Given the description of an element on the screen output the (x, y) to click on. 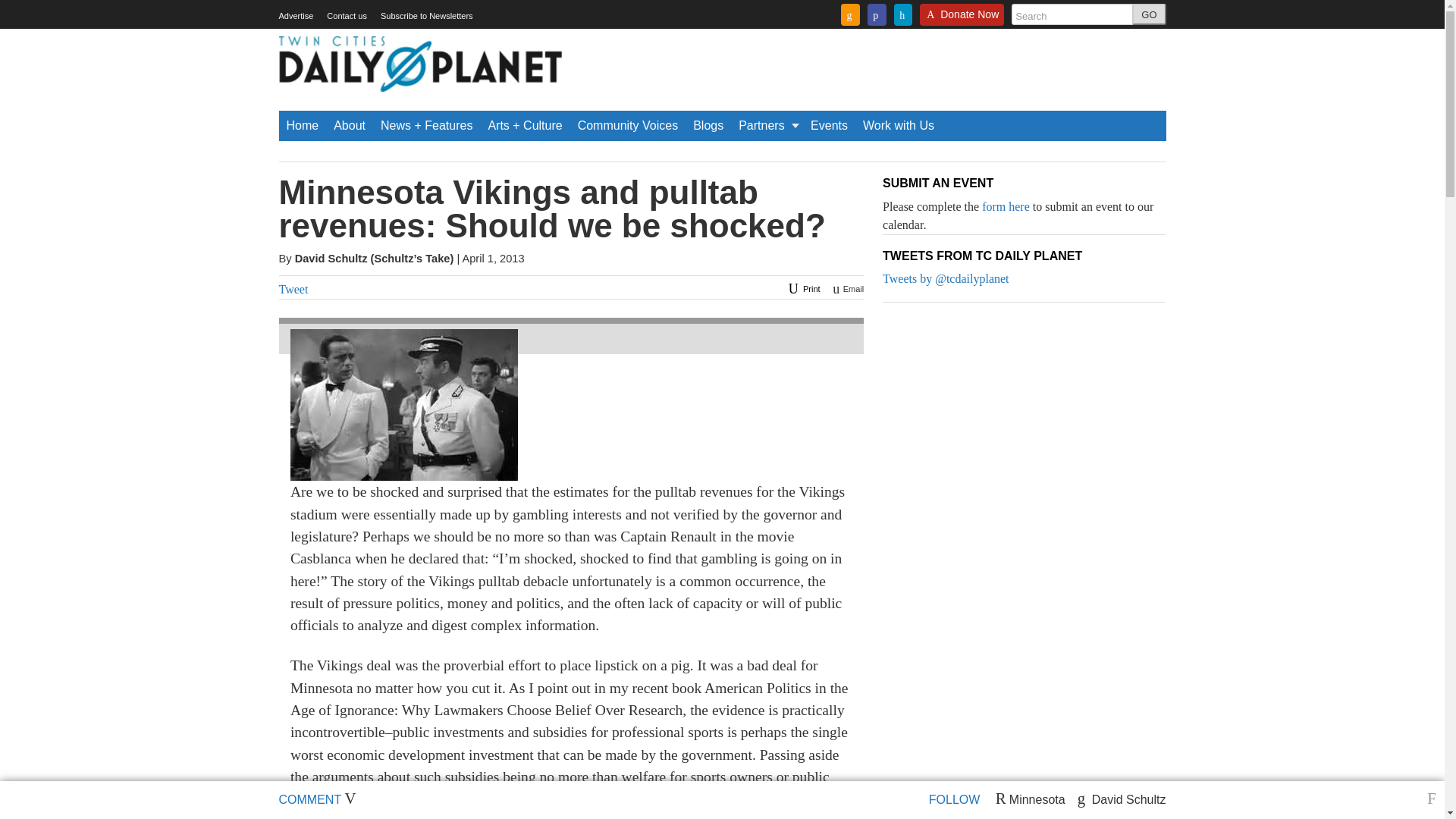
GO (1149, 14)
Home (302, 125)
Print this article (801, 288)
Partners (766, 125)
Link to Facebook Profile (876, 14)
Blogs (707, 125)
Community Voices (627, 125)
Tweet (293, 288)
Link to RSS Feed (850, 14)
Contact us (346, 15)
Events (829, 125)
form here (1005, 205)
Subscribe to Newsletters (426, 15)
Print (801, 288)
About (349, 125)
